Given the description of an element on the screen output the (x, y) to click on. 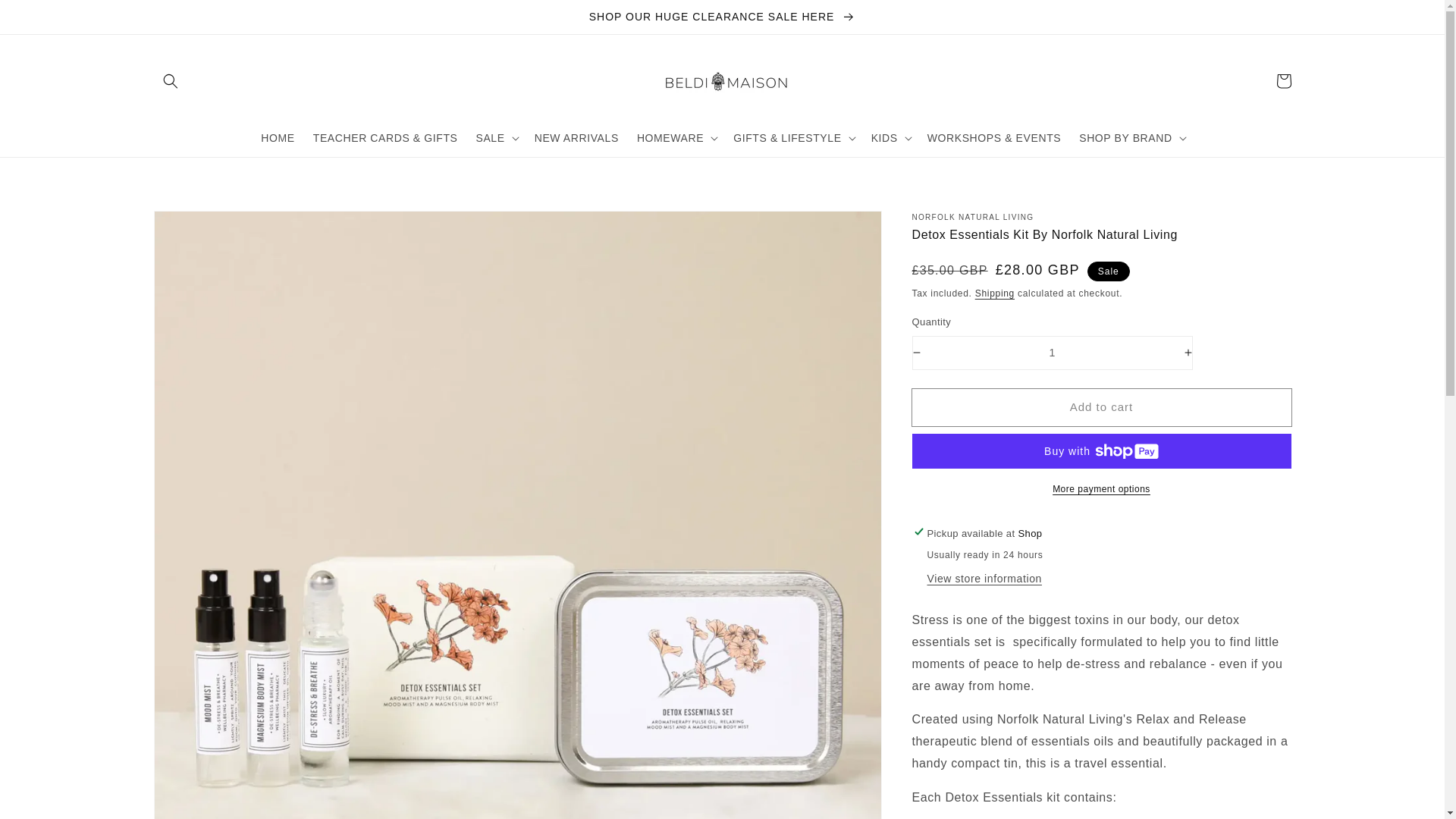
Skip to content (45, 16)
1 (1052, 352)
